Given the description of an element on the screen output the (x, y) to click on. 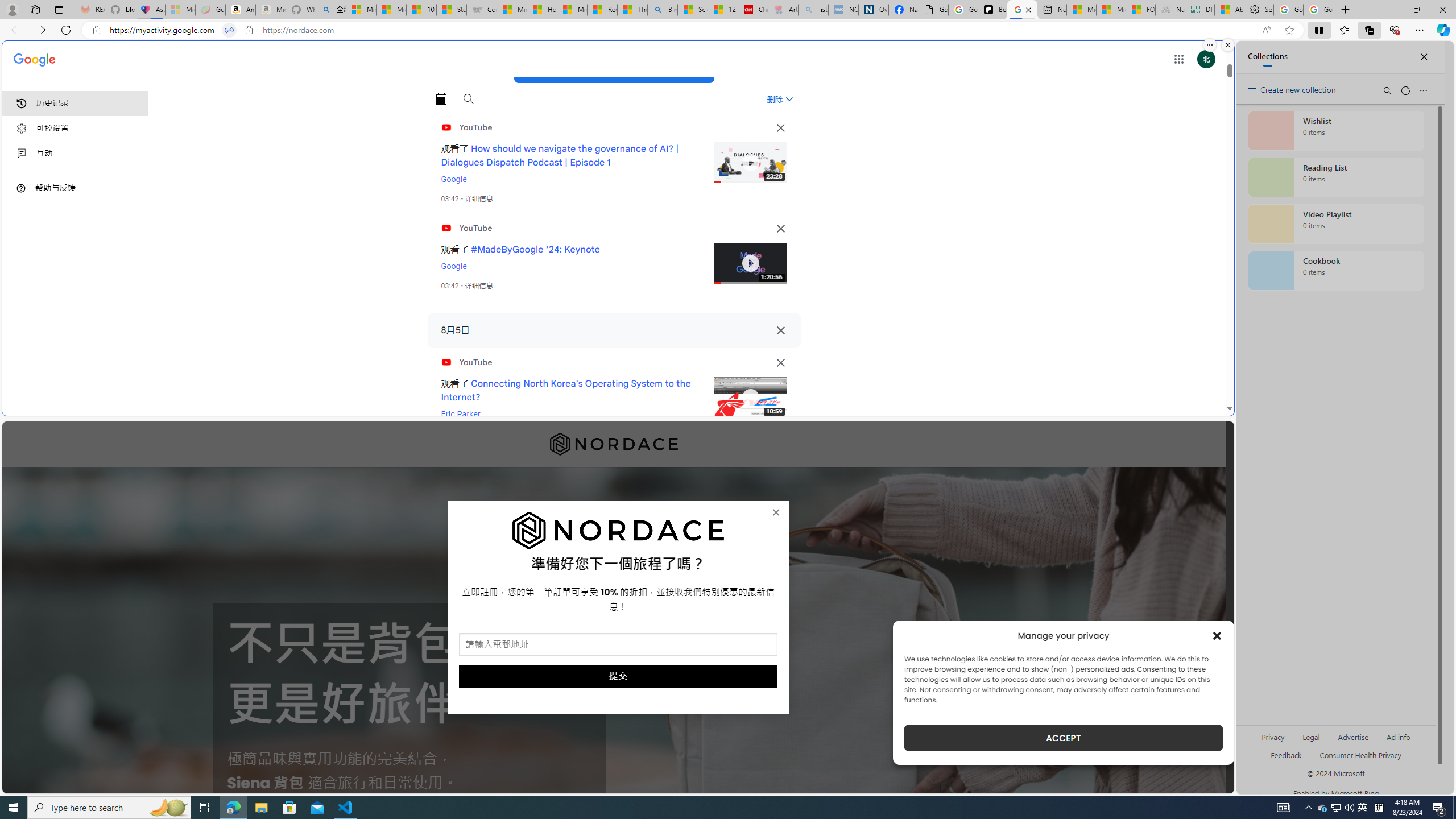
Class: DTiKkd NMm5M (21, 188)
Class: asE2Ub NMm5M (788, 99)
ACCEPT (1063, 737)
Arthritis: Ask Health Professionals - Sleeping (782, 9)
